Given the description of an element on the screen output the (x, y) to click on. 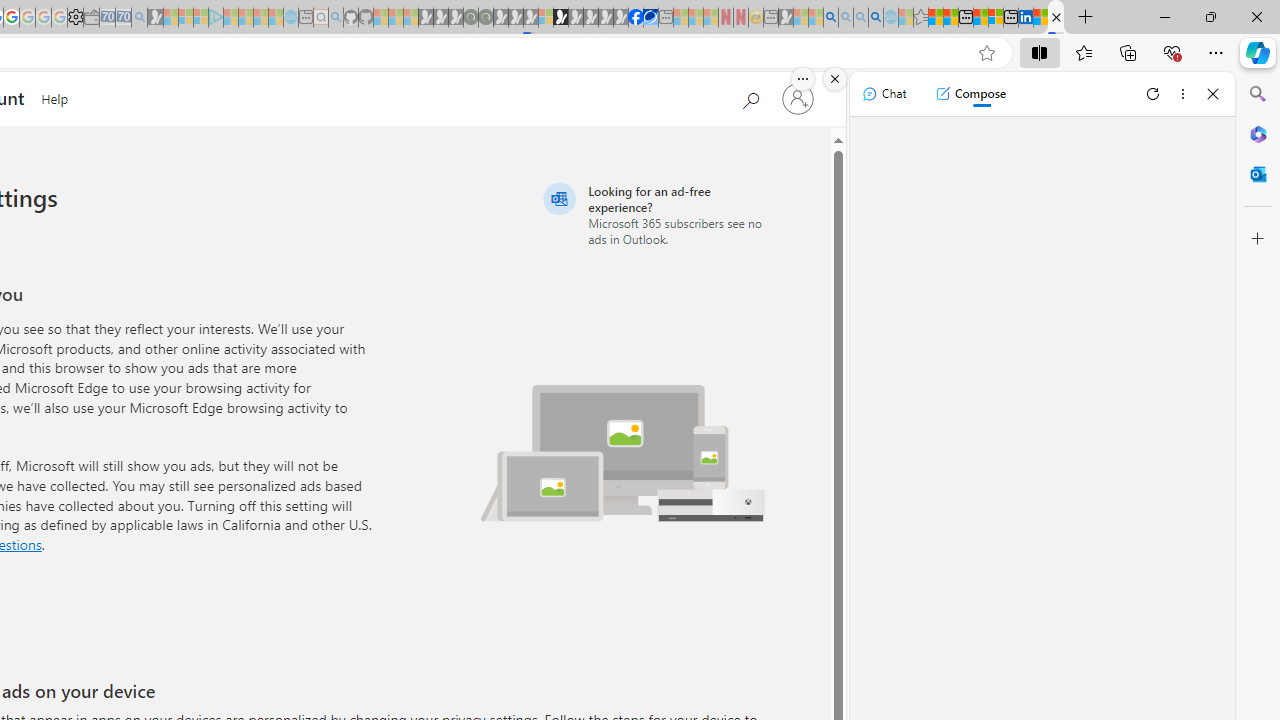
Future Focus Report 2024 - Sleeping (485, 17)
Bing AI - Search (831, 17)
Looking for an ad-free experience? (656, 214)
